Given the description of an element on the screen output the (x, y) to click on. 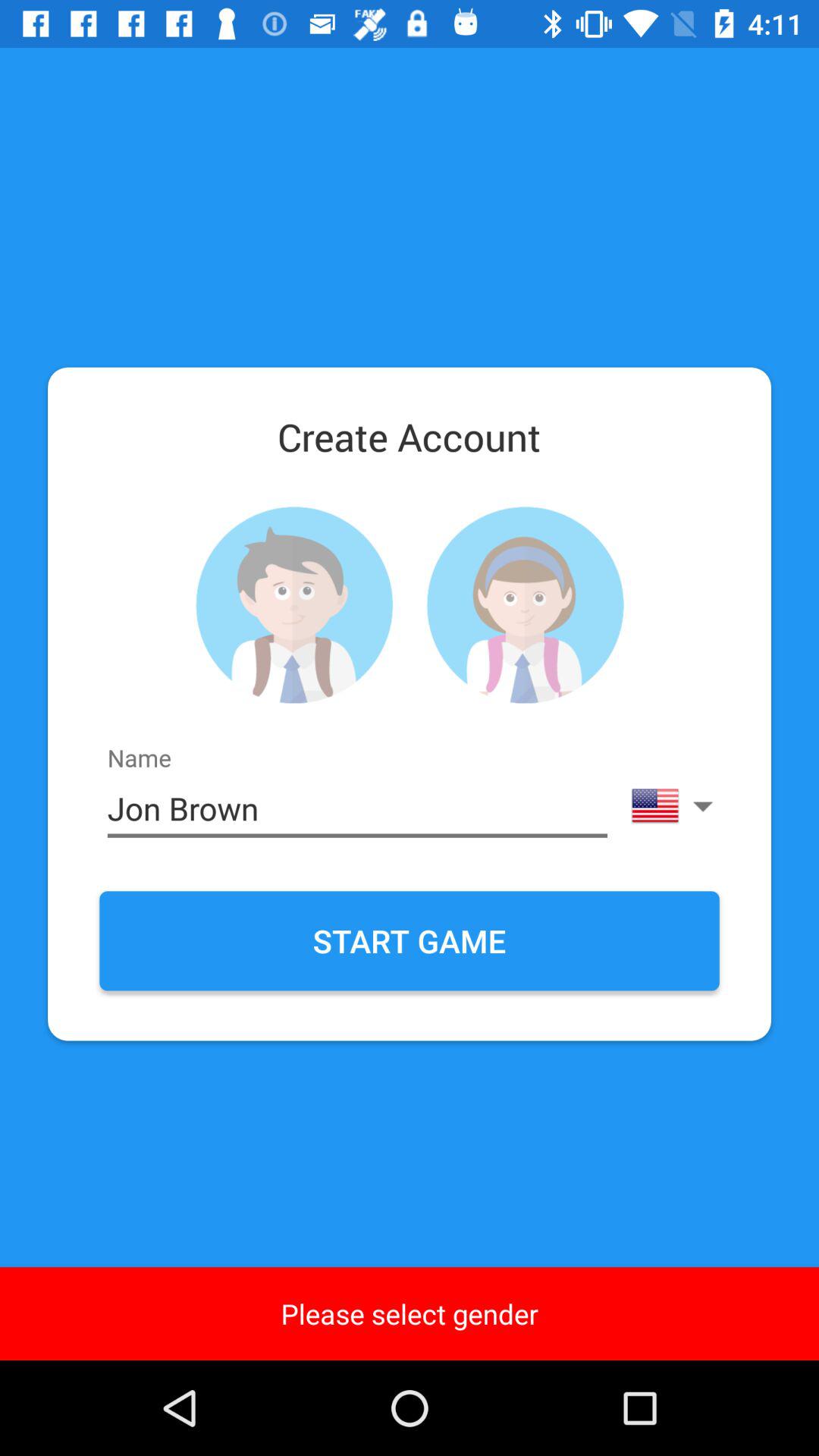
female (524, 605)
